Given the description of an element on the screen output the (x, y) to click on. 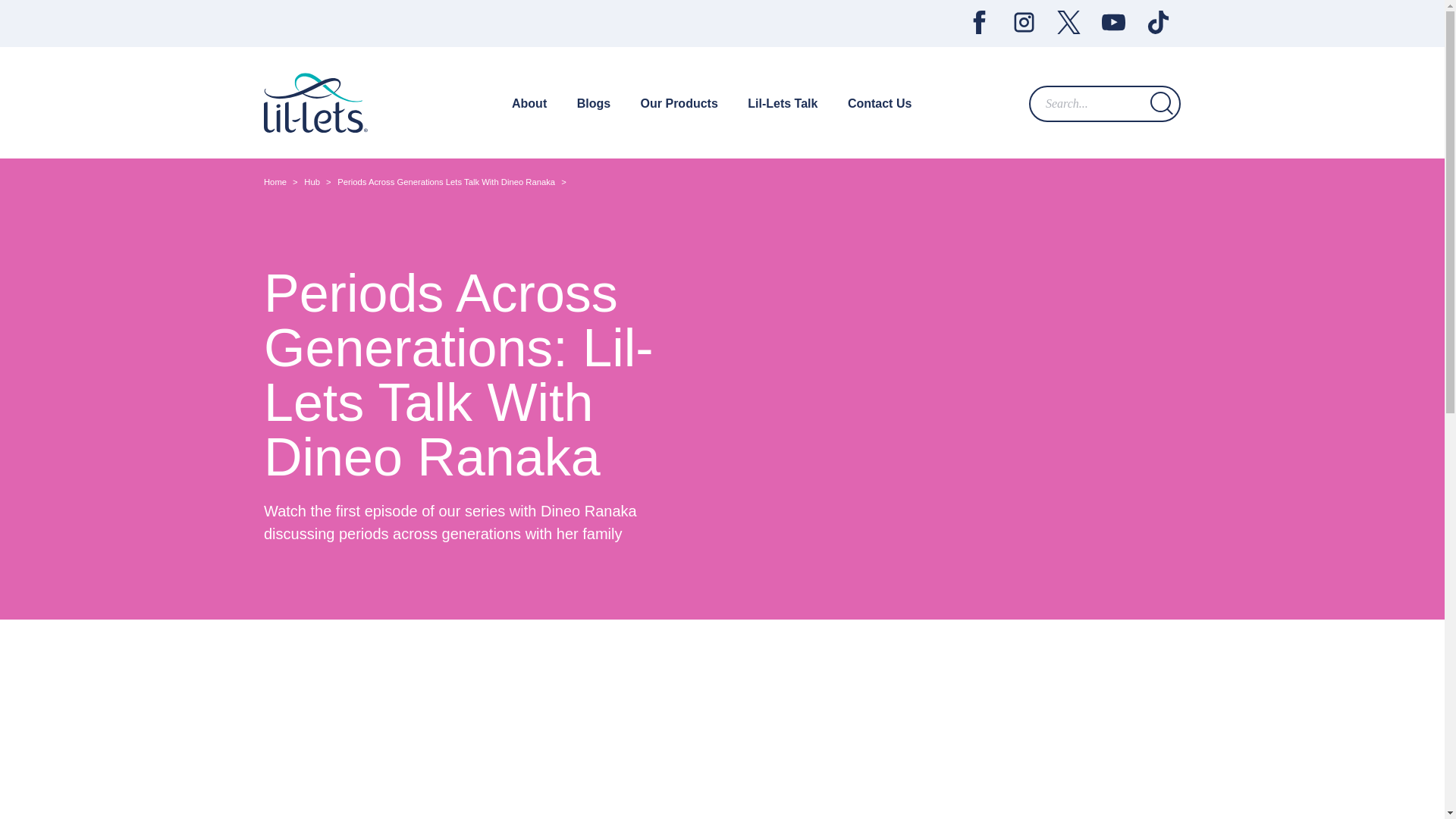
Home (274, 181)
Periods Across Generations Lets Talk With Dineo Ranaka (445, 181)
Our Products (678, 103)
Hub (312, 181)
